Given the description of an element on the screen output the (x, y) to click on. 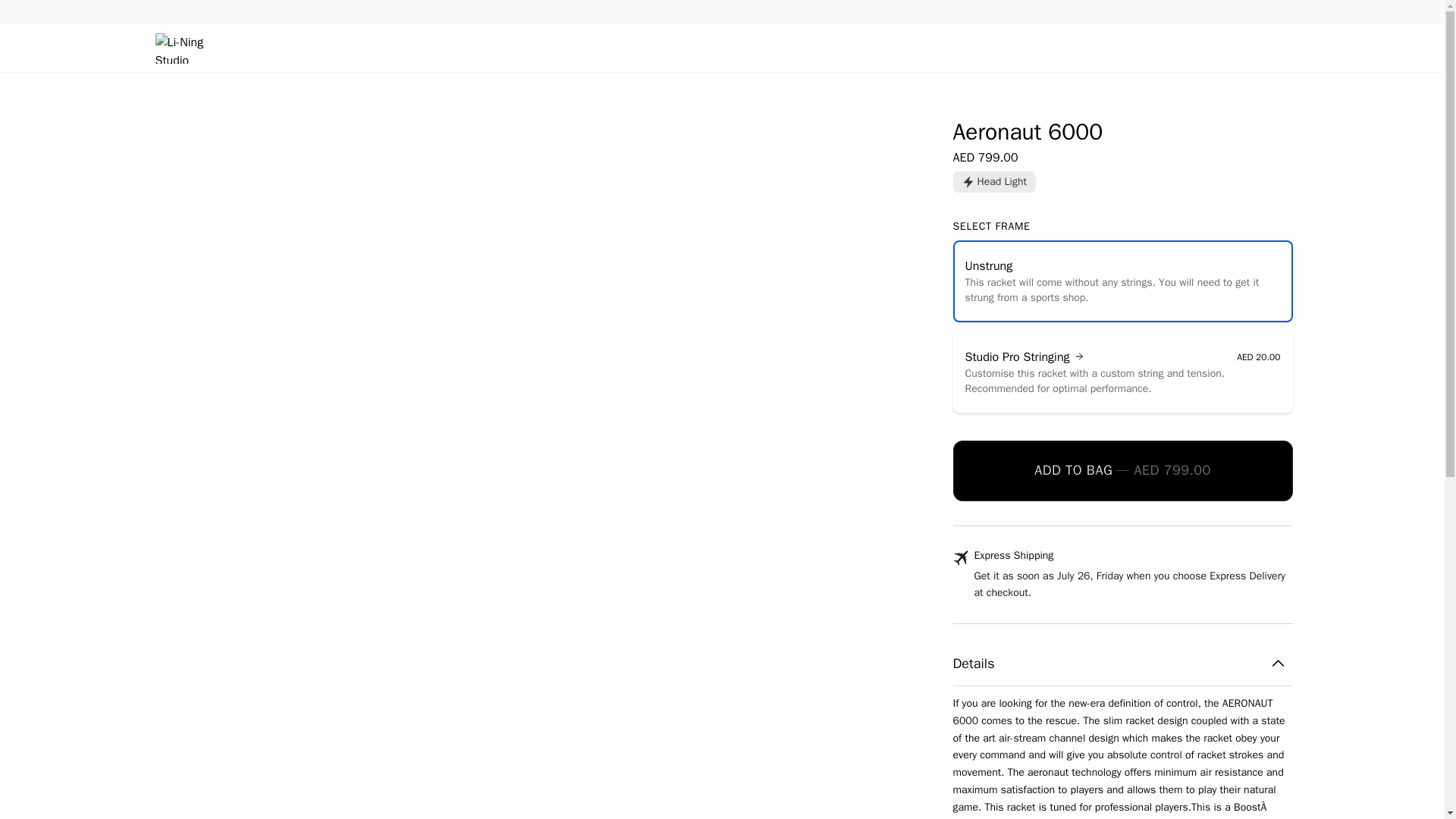
Details (1122, 667)
